Given the description of an element on the screen output the (x, y) to click on. 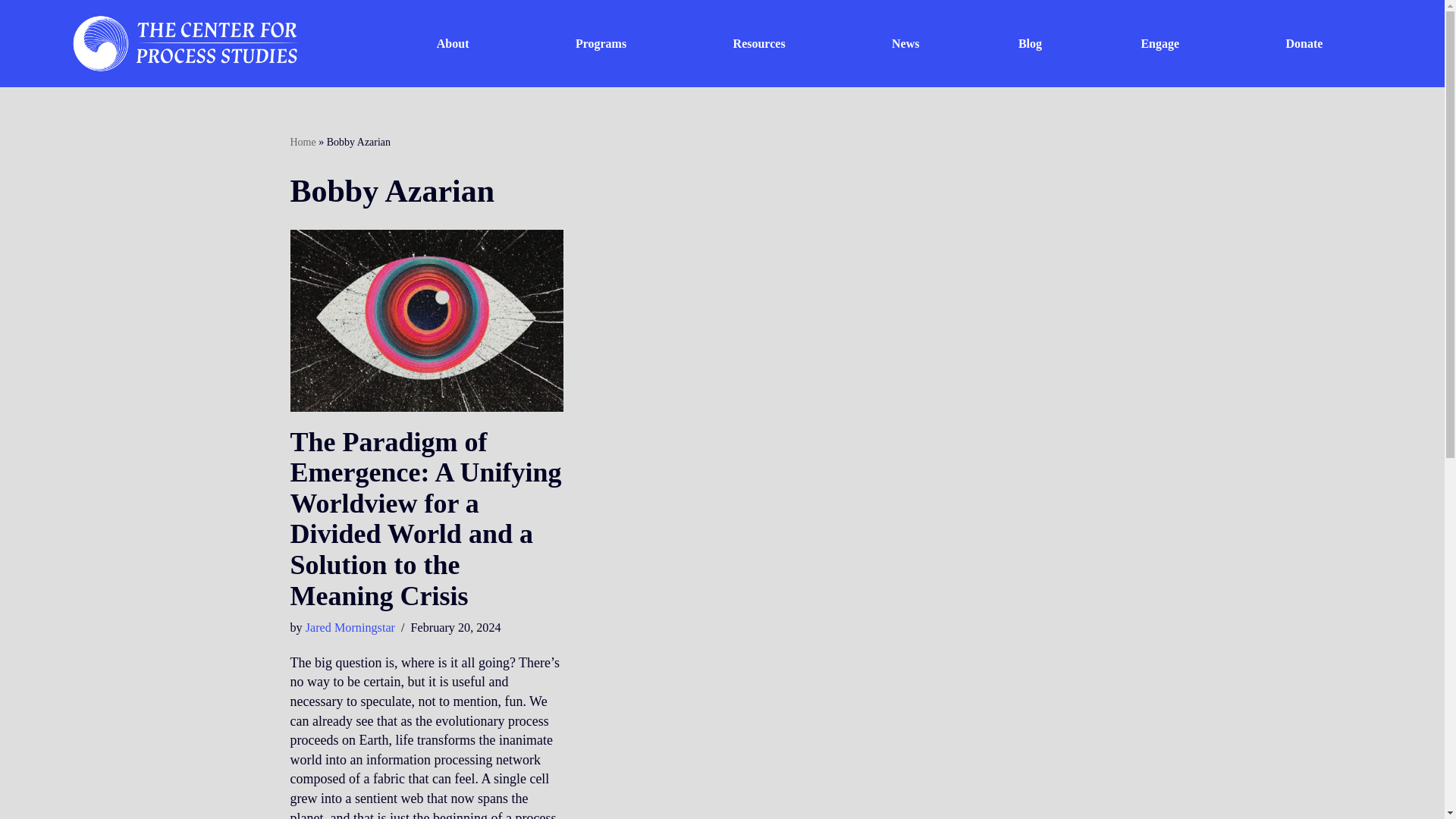
Posts by Jared Morningstar (349, 627)
About (456, 42)
Blog (1030, 42)
Engage (1163, 42)
Resources (761, 42)
Donate (1303, 42)
Programs (604, 42)
News (906, 42)
Skip to content (11, 31)
